Given the description of an element on the screen output the (x, y) to click on. 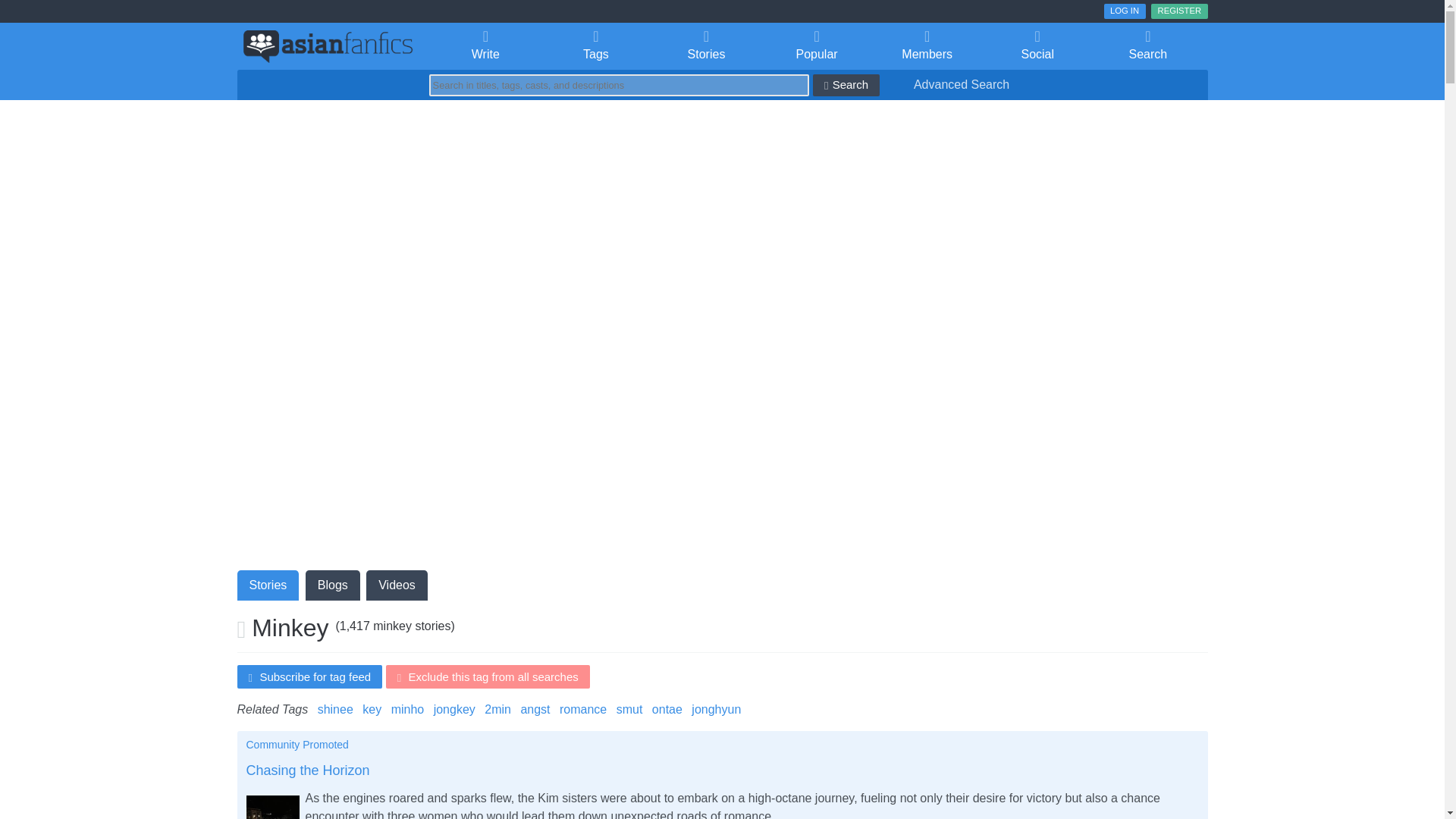
LOG IN (1124, 10)
Social (1037, 45)
REGISTER (1179, 10)
Stories (705, 45)
Search (1148, 45)
Write (485, 45)
Tags (595, 45)
Popular (816, 45)
Members (927, 45)
